Given the description of an element on the screen output the (x, y) to click on. 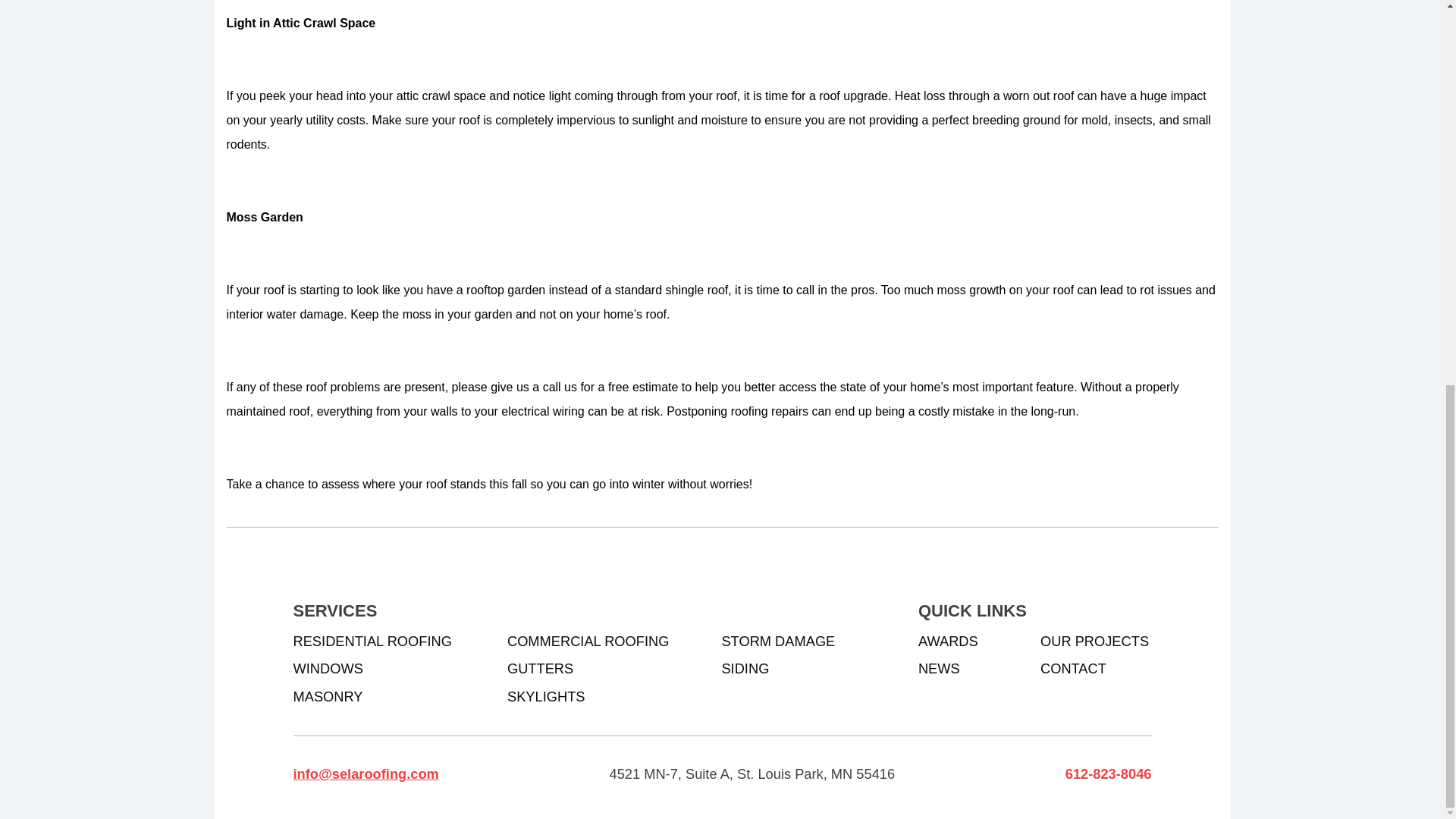
CONTACT (1073, 668)
NEWS (938, 668)
WINDOWS (327, 668)
612-823-8046 (1108, 774)
SIDING (744, 668)
STORM DAMAGE (777, 641)
COMMERCIAL ROOFING (587, 641)
GUTTERS (539, 668)
AWARDS (948, 641)
SKYLIGHTS (545, 696)
